Given the description of an element on the screen output the (x, y) to click on. 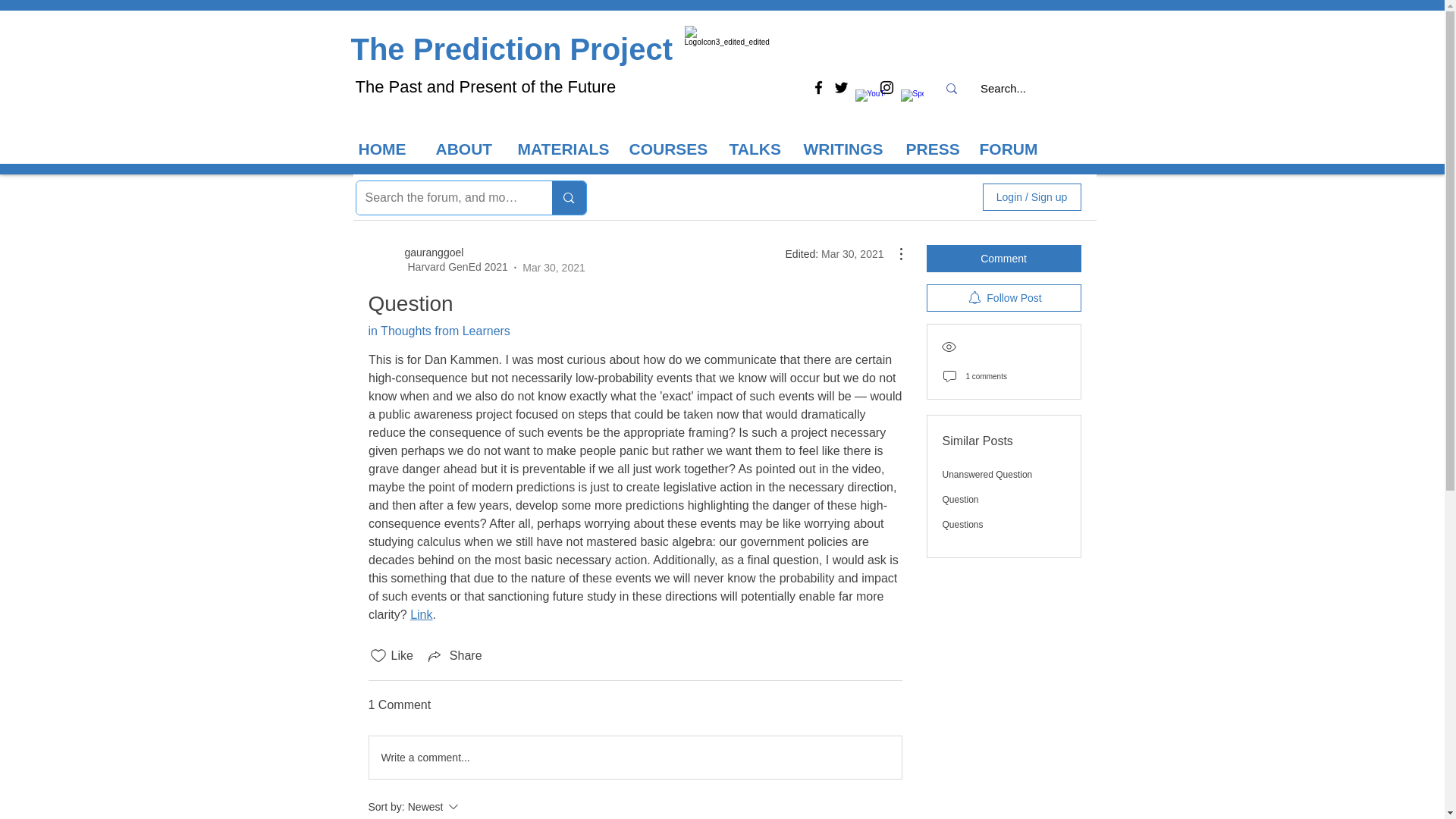
The Past and Present of the Future (485, 86)
TALKS (759, 148)
in Thoughts from Learners (439, 330)
FORUM (1014, 148)
My Posts (535, 197)
ABOUT (468, 148)
Share (453, 656)
Categories (397, 197)
Write a comment... (634, 757)
The Prediction Project (511, 49)
PRESS (934, 148)
COURSES (671, 148)
MATERIALS (565, 148)
HOME (389, 148)
All Posts (468, 197)
